Given the description of an element on the screen output the (x, y) to click on. 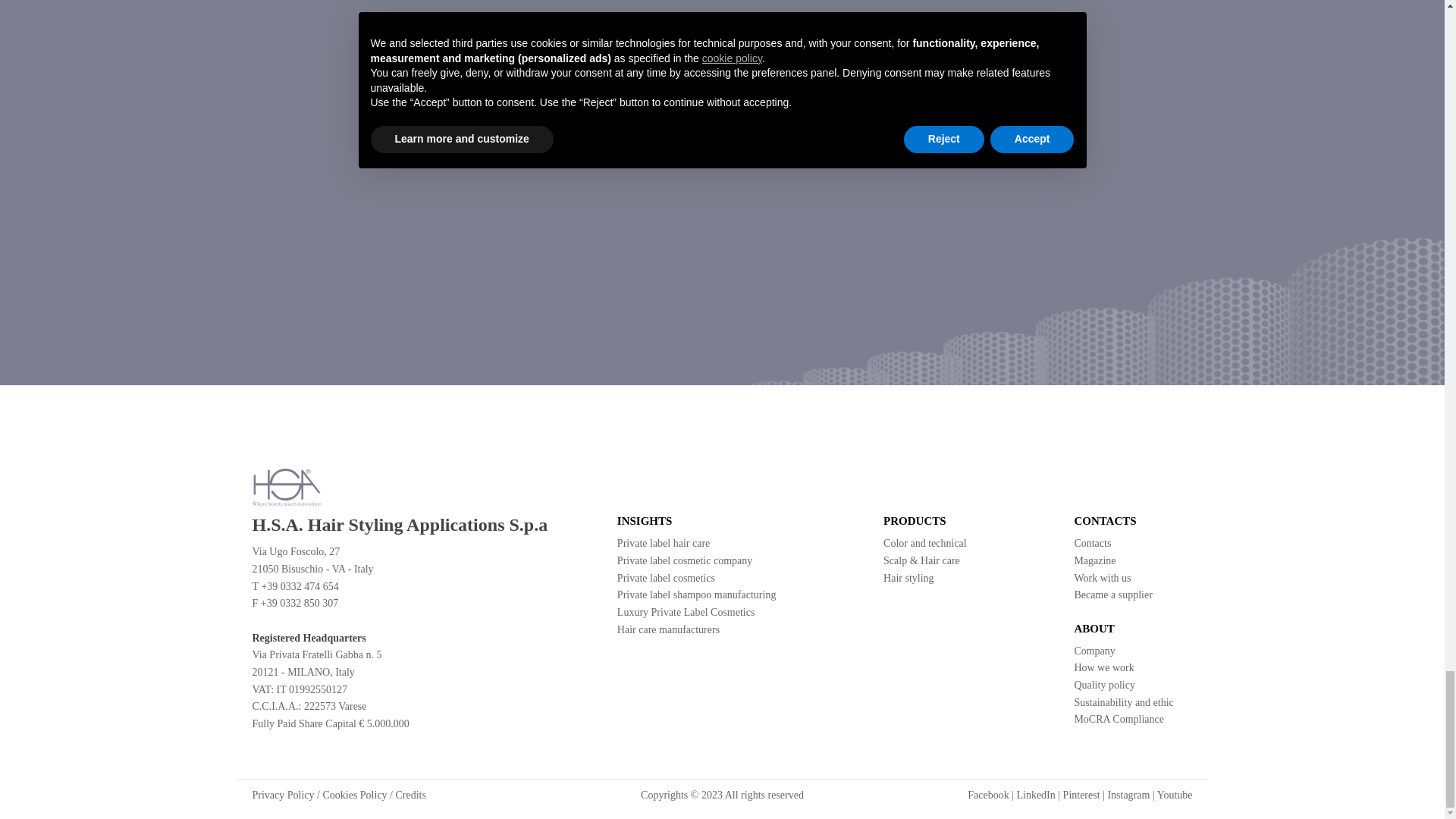
Private label cosmetics (665, 577)
Became a supplier (1112, 594)
INSIGHTS (705, 520)
Color and techinical (924, 542)
Magazine (1094, 560)
Hair styling (908, 577)
Luxury Private Label Cosmetics (686, 612)
Hair care manufacturers (668, 629)
Private label cosmetic company (684, 560)
